Given the description of an element on the screen output the (x, y) to click on. 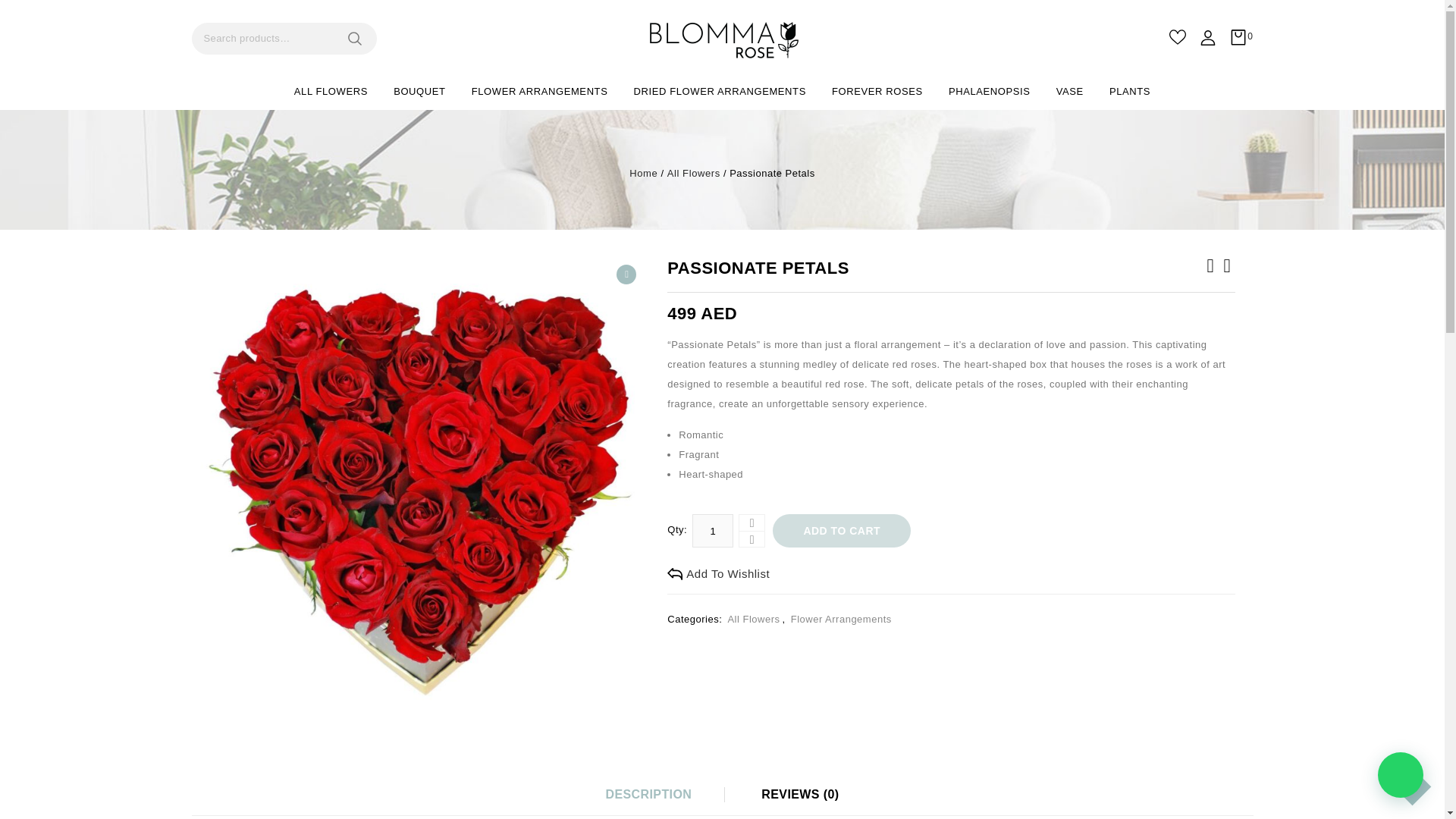
Flower Arrangements (840, 618)
DESCRIPTION (648, 794)
wishlist (1177, 36)
VASE (1070, 91)
0 (1241, 40)
- (751, 538)
BLOMMAROSE (721, 39)
PHALAENOPSIS (989, 91)
SEARCH (359, 38)
ADD TO CART (842, 530)
All Flowers (693, 173)
ALL FLOWERS (331, 91)
FOREVER ROSES (877, 91)
FLOWER ARRANGEMENTS (539, 91)
